Given the description of an element on the screen output the (x, y) to click on. 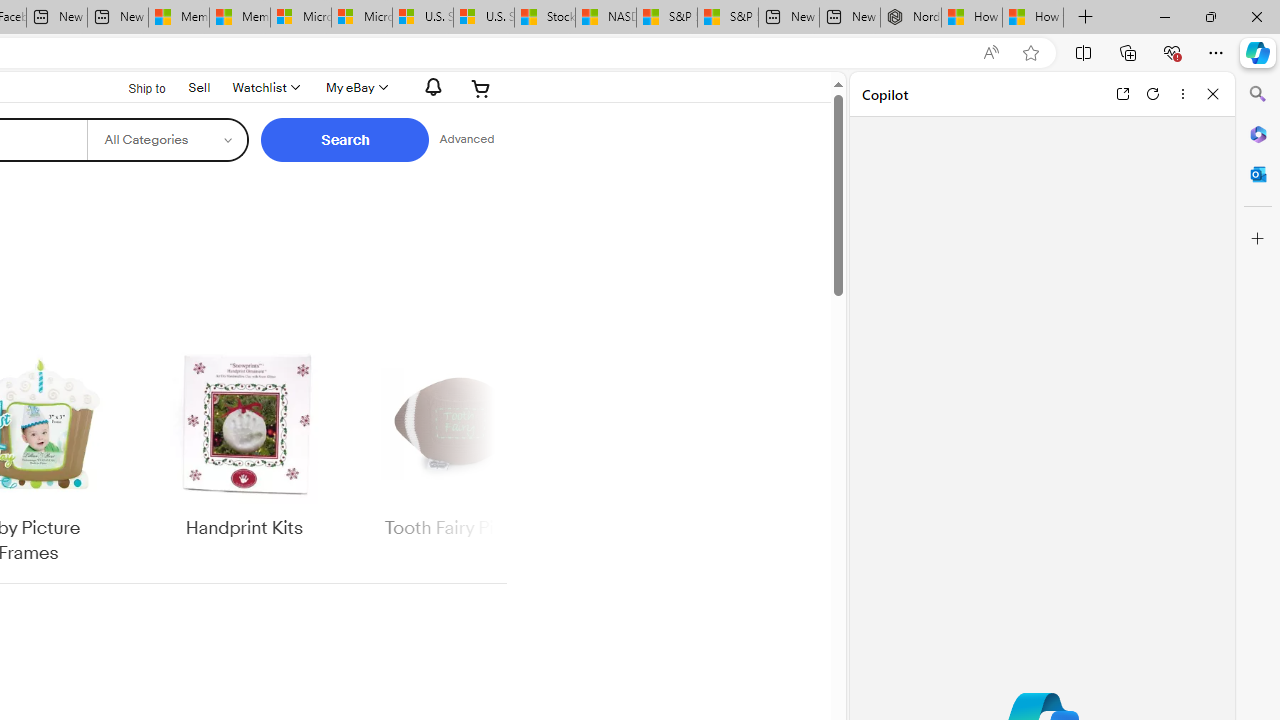
Your shopping cart (481, 88)
S&P 500, Nasdaq end lower, weighed by Nvidia dip | Watch (727, 17)
Go to next slide (493, 455)
More options (1182, 93)
Select a category for search (167, 139)
Notifications (427, 87)
Sell (199, 86)
Advanced Search (466, 139)
Handprint Kits (244, 455)
Handprint Kits (244, 443)
